Given the description of an element on the screen output the (x, y) to click on. 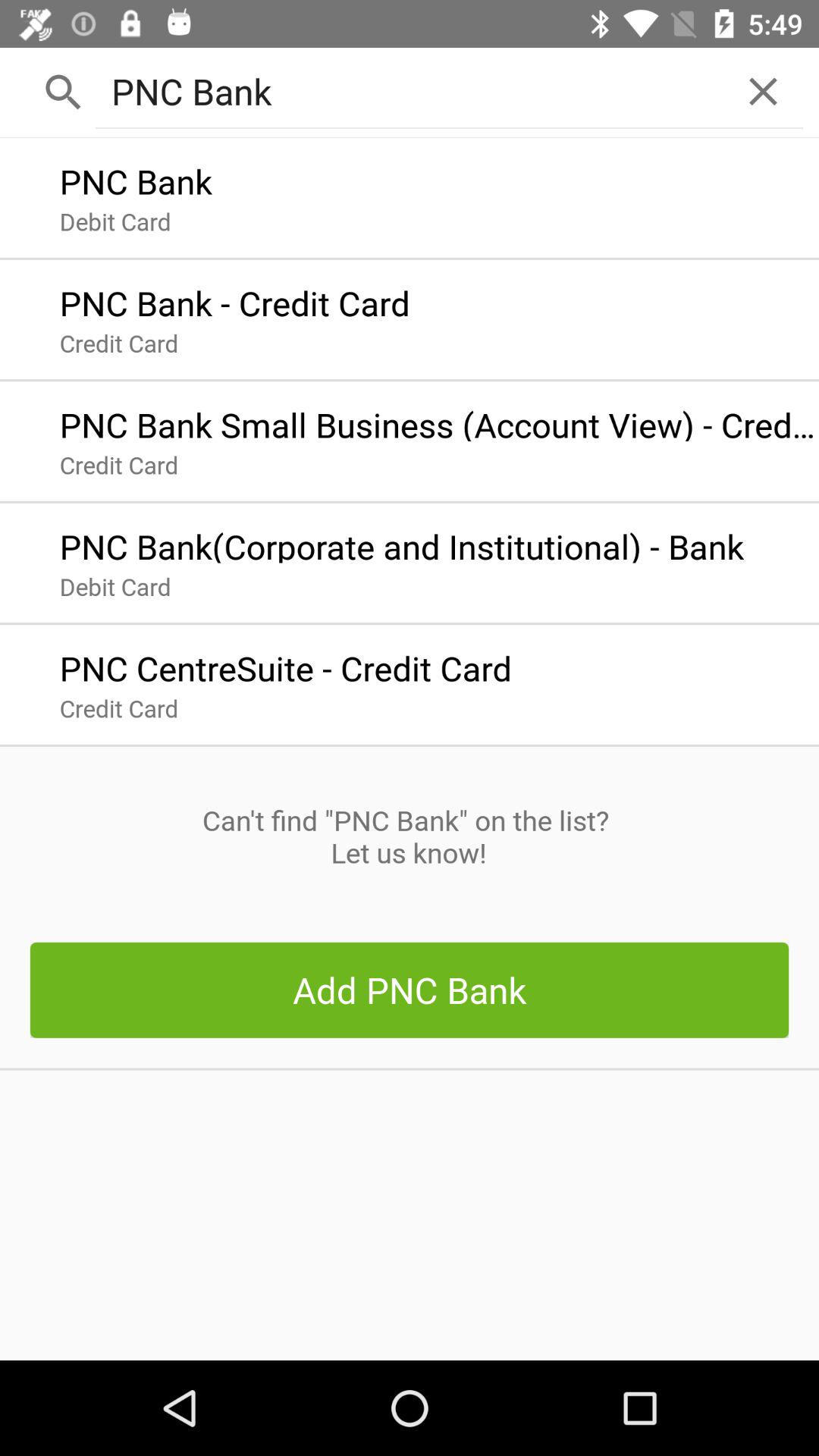
press the icon at the top right corner (763, 91)
